Given the description of an element on the screen output the (x, y) to click on. 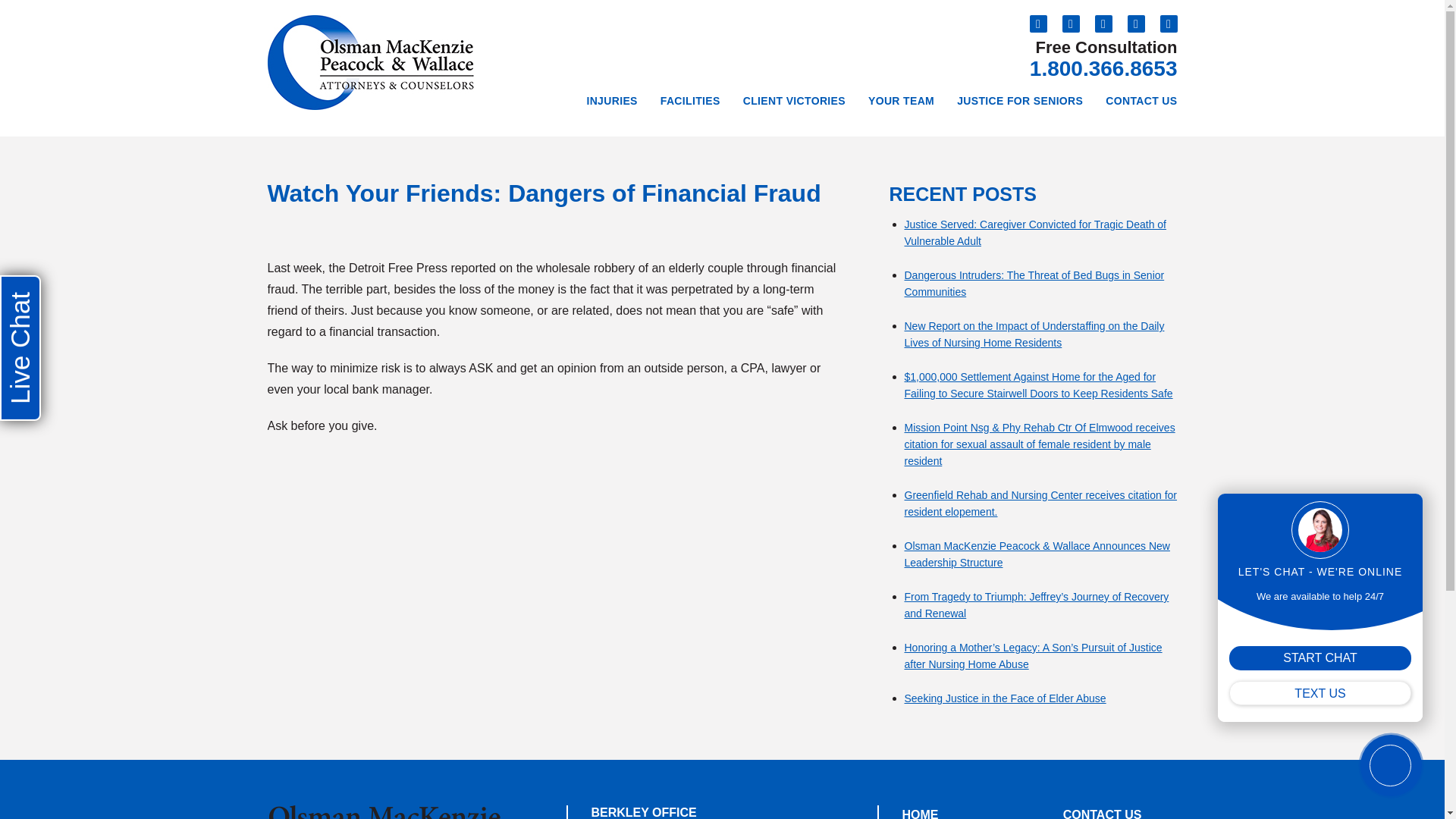
FACILITIES (690, 101)
Home (970, 812)
Contact Us (1108, 812)
1.800.366.8653 (1103, 68)
CLIENT VICTORIES (794, 101)
INJURIES (611, 101)
YOUR TEAM (900, 101)
